Given the description of an element on the screen output the (x, y) to click on. 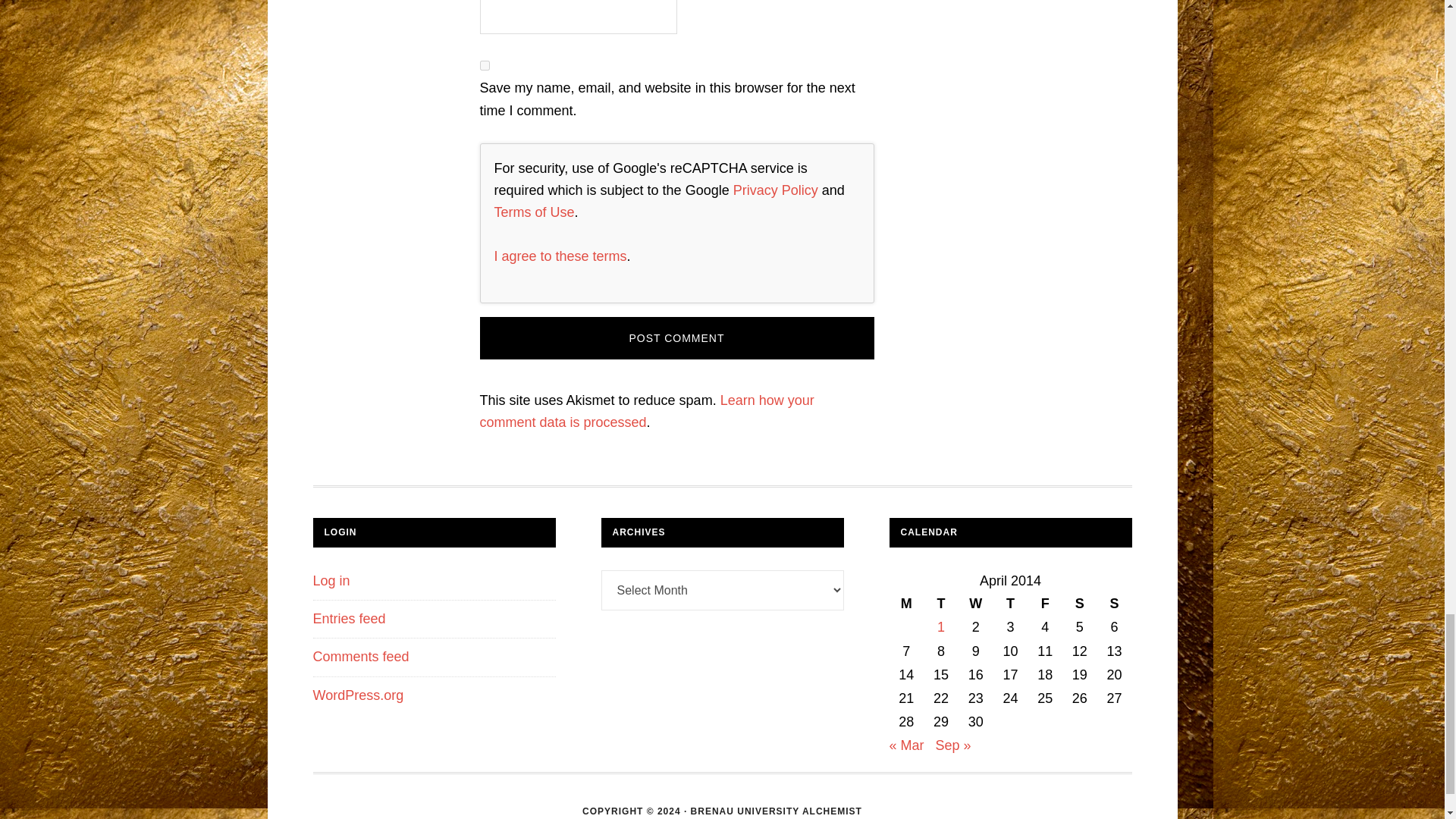
I agree to these terms (561, 255)
Comments feed (361, 656)
Friday (1044, 603)
Terms of Use (535, 212)
Learn how your comment data is processed (646, 411)
Privacy Policy (775, 190)
Sunday (1114, 603)
WordPress.org (358, 694)
Post Comment (676, 337)
yes (484, 65)
Saturday (1079, 603)
Thursday (1009, 603)
Post Comment (676, 337)
Wednesday (975, 603)
Monday (905, 603)
